Given the description of an element on the screen output the (x, y) to click on. 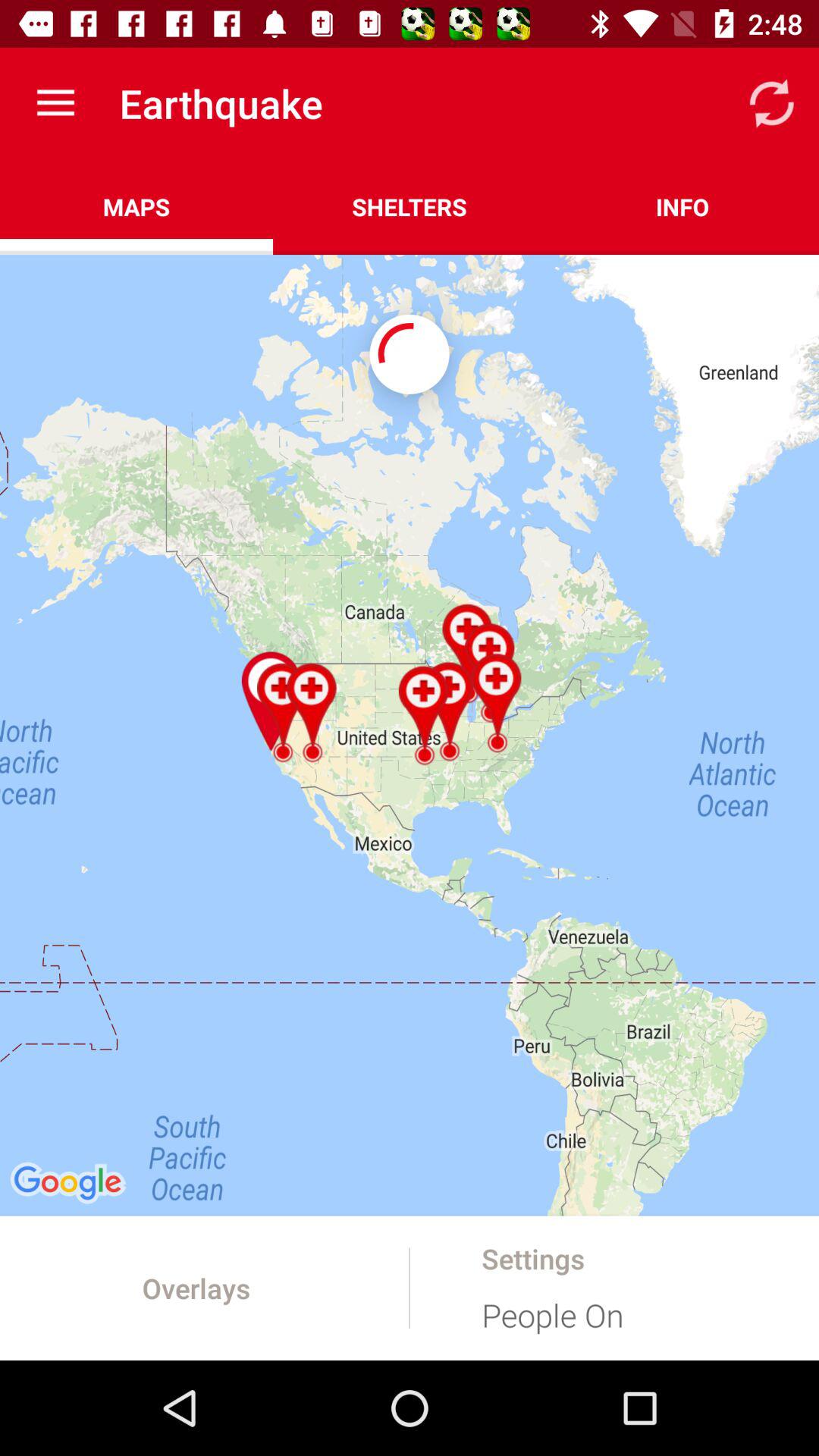
tap icon below the earthquake (409, 206)
